Given the description of an element on the screen output the (x, y) to click on. 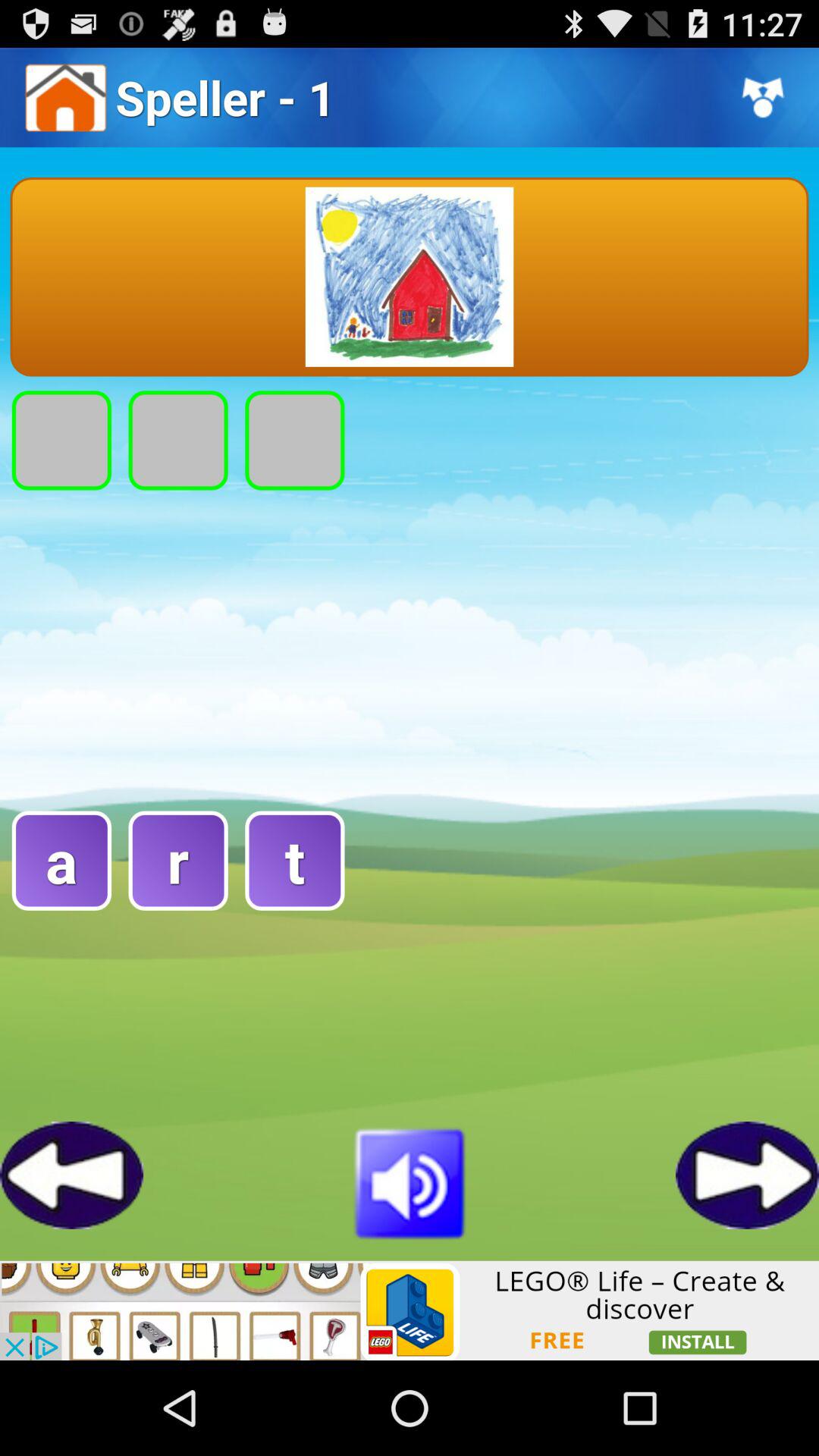
lego life advertisement (409, 1310)
